Given the description of an element on the screen output the (x, y) to click on. 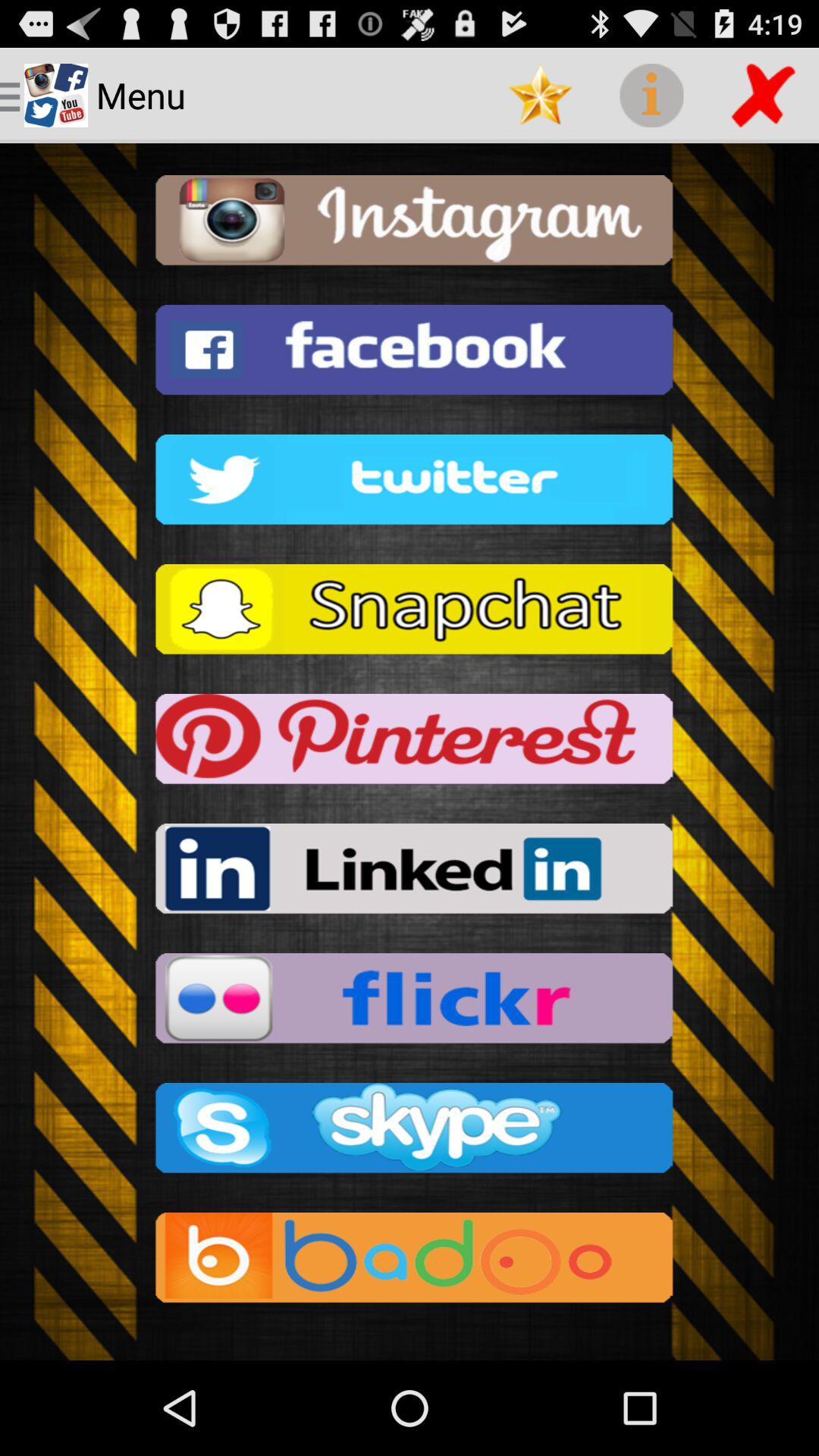
go to facebook (409, 354)
